Given the description of an element on the screen output the (x, y) to click on. 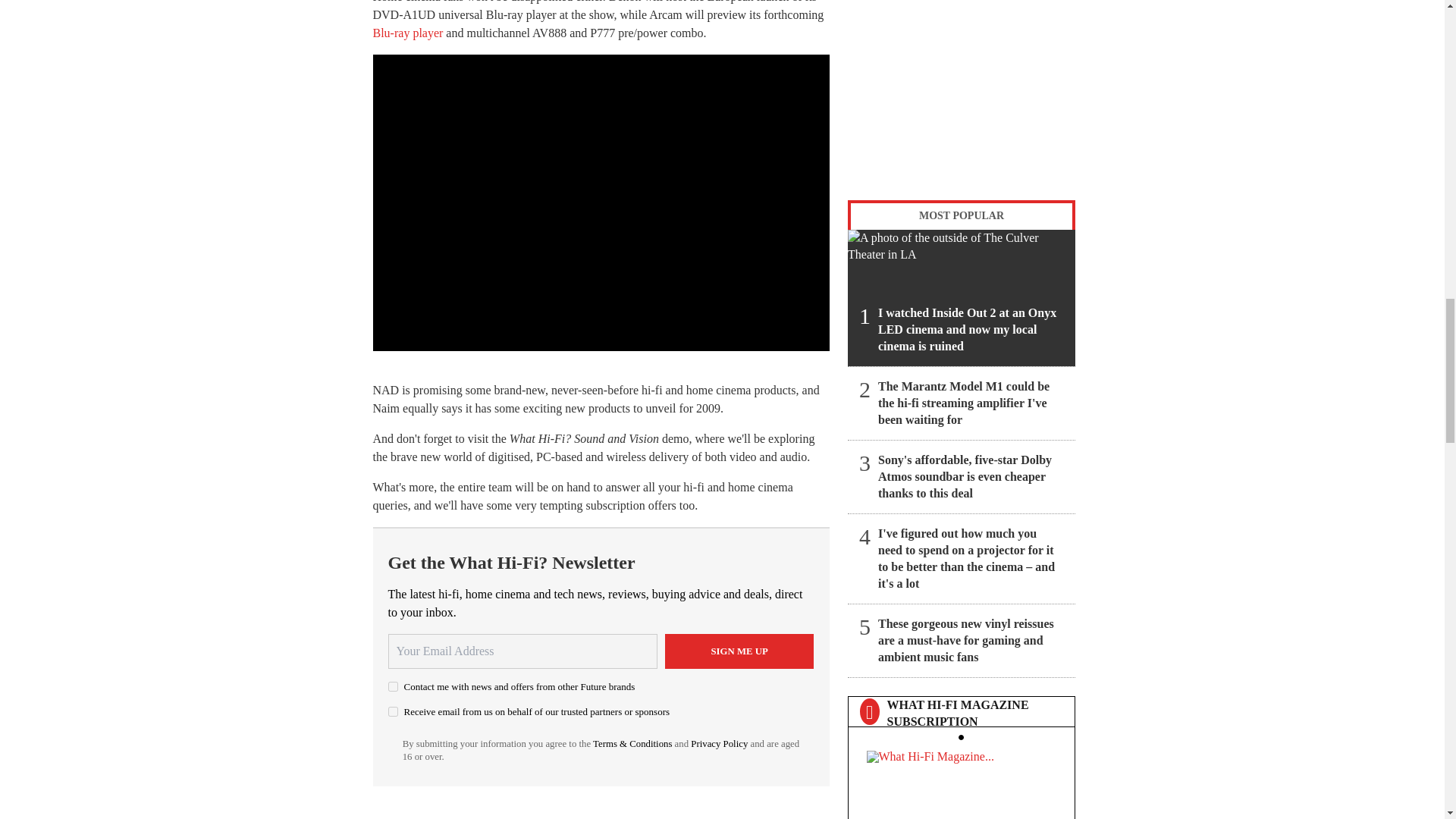
on (392, 686)
Sign me up (739, 651)
What Hi-Fi Magazine... (960, 780)
on (392, 711)
